Given the description of an element on the screen output the (x, y) to click on. 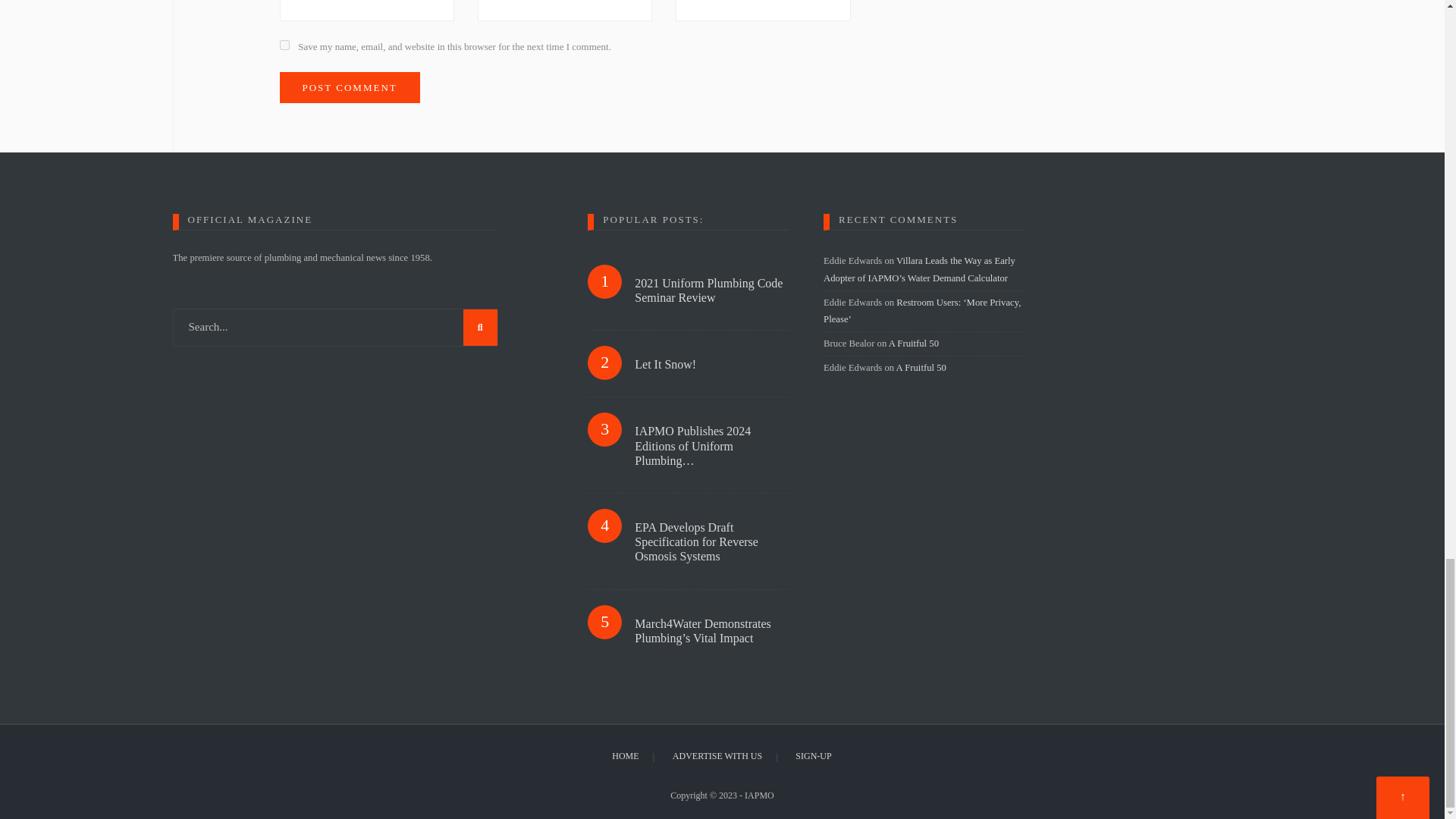
yes (283, 44)
Search... (335, 327)
2021 Uniform Plumbing Code Seminar Review (711, 290)
Let It Snow!  (711, 364)
EPA Develops Draft Specification for Reverse Osmosis Systems (711, 542)
Post Comment (349, 88)
Post Comment (349, 88)
